Given the description of an element on the screen output the (x, y) to click on. 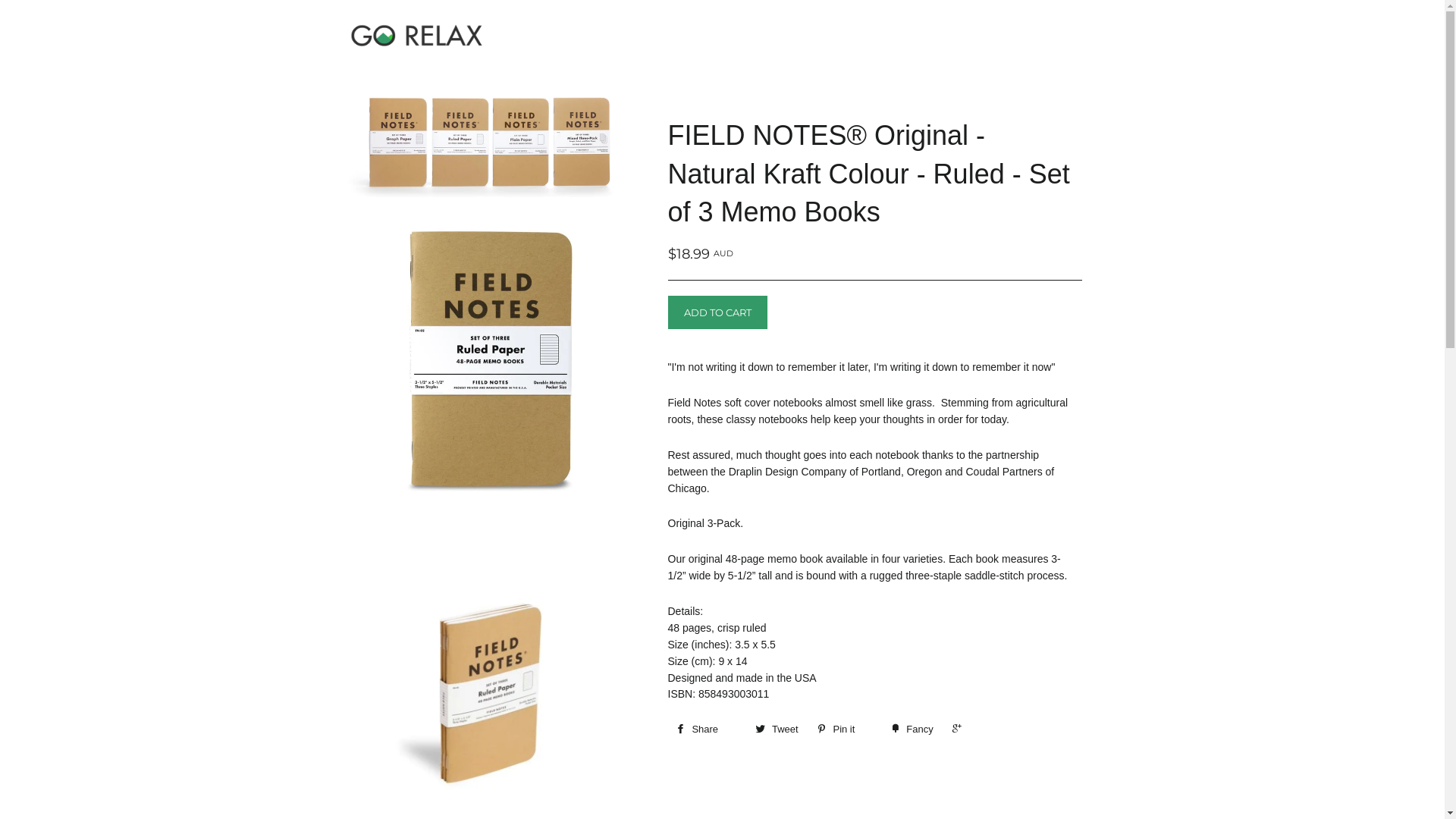
ADD TO CART Element type: text (716, 312)
Pin it Element type: text (845, 729)
Share Element type: text (705, 729)
Tweet Element type: text (776, 729)
Fancy Element type: text (912, 729)
